Given the description of an element on the screen output the (x, y) to click on. 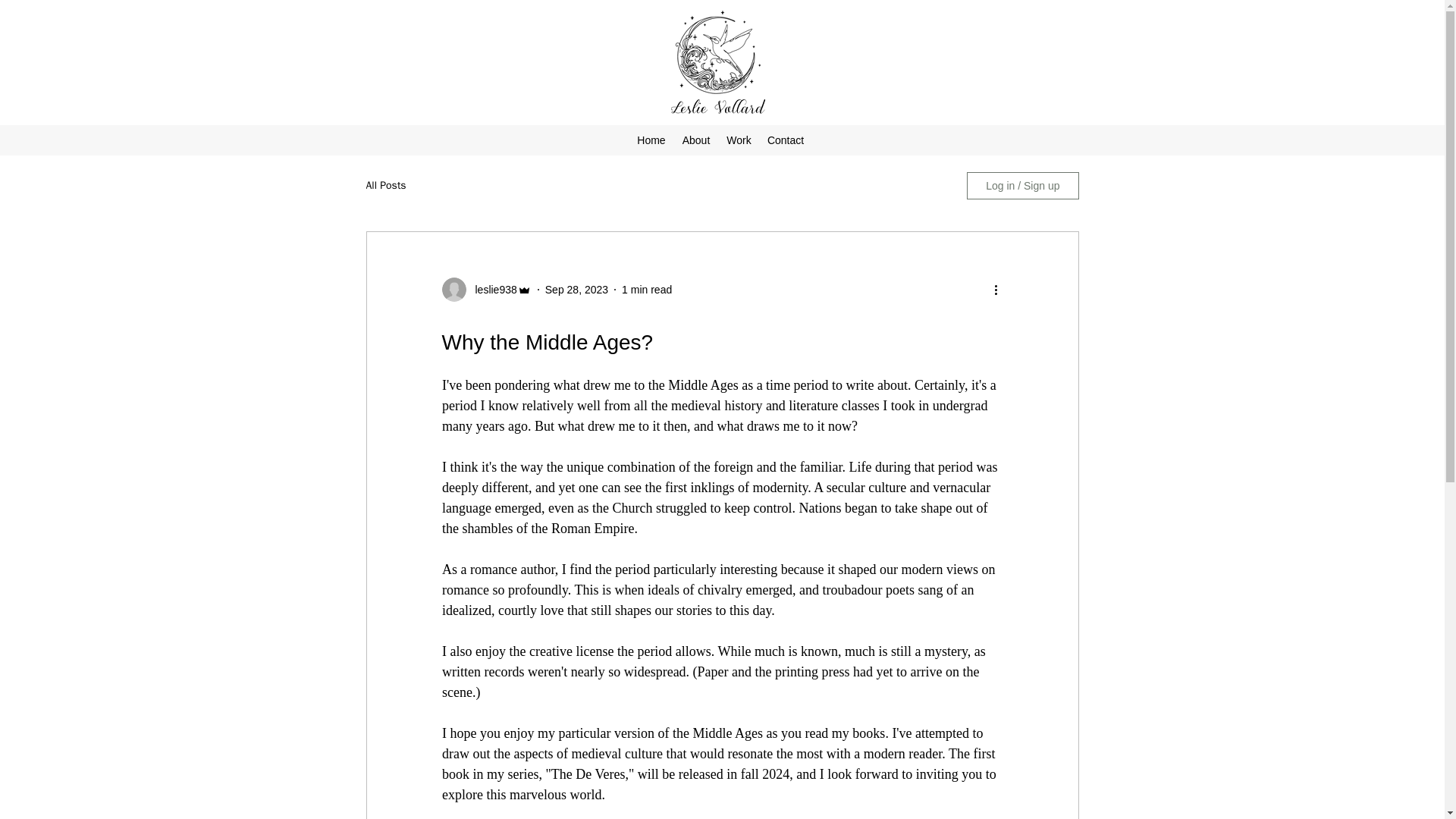
Home (650, 139)
All Posts (385, 185)
Work (738, 139)
Contact (785, 139)
About (695, 139)
Sep 28, 2023 (576, 289)
leslie938 (490, 289)
1 min read (646, 289)
